Given the description of an element on the screen output the (x, y) to click on. 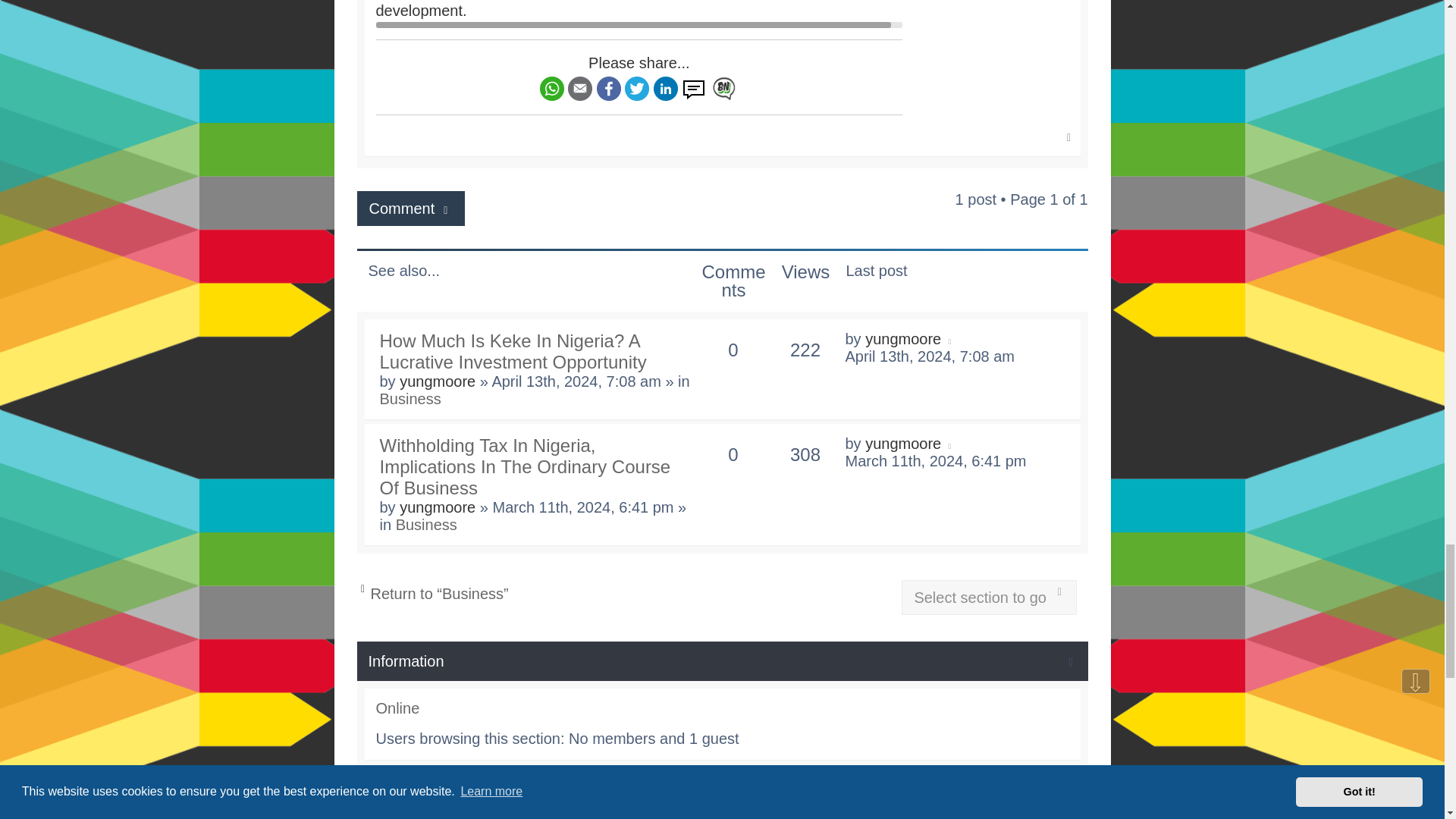
Comment (410, 208)
